Given the description of an element on the screen output the (x, y) to click on. 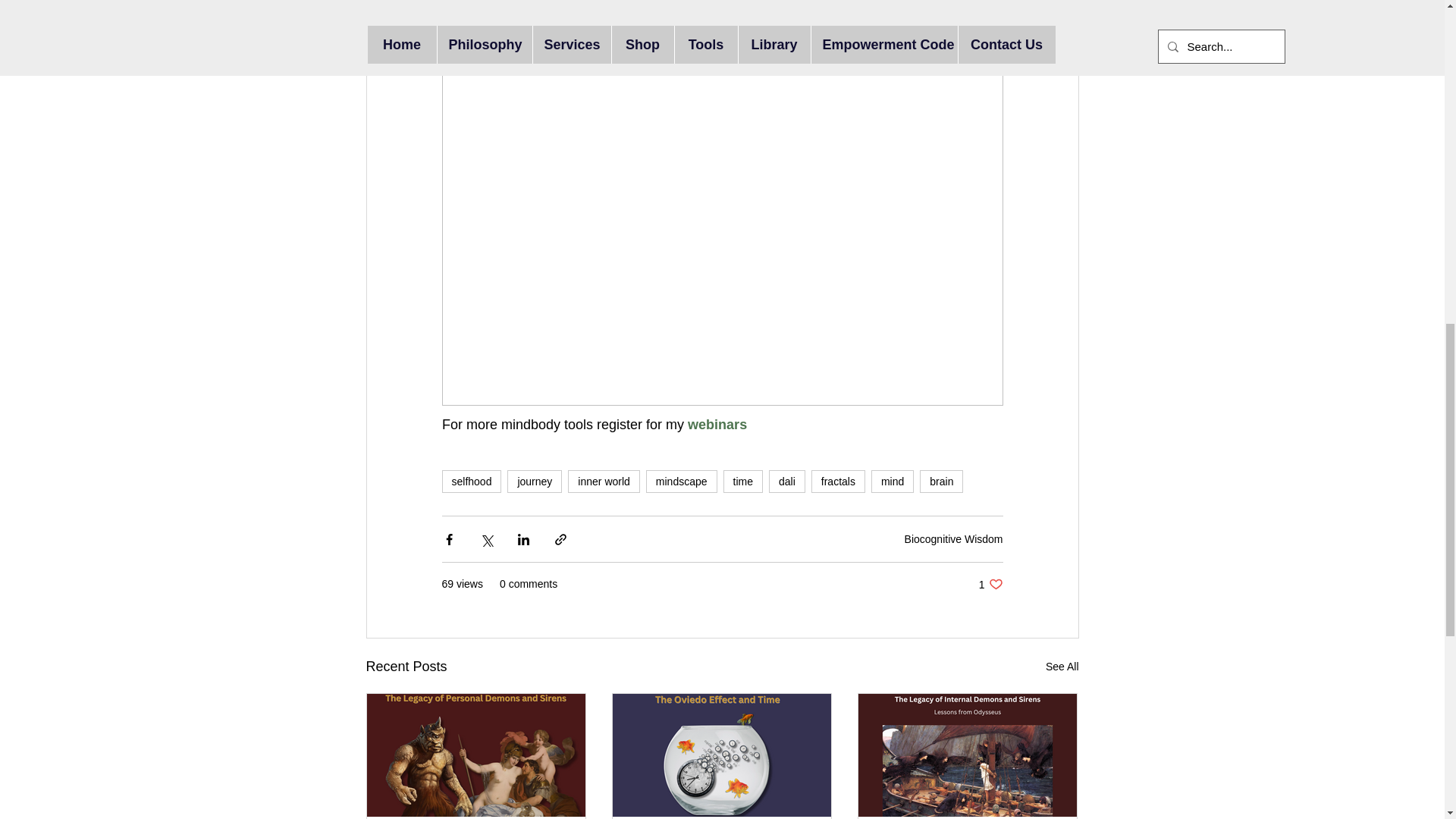
Biocognitive Wisdom (953, 539)
inner world (603, 481)
dali (786, 481)
selfhood (470, 481)
See All (1061, 667)
journey (534, 481)
brain (941, 481)
time (742, 481)
webinars  (719, 424)
fractals (837, 481)
